Given the description of an element on the screen output the (x, y) to click on. 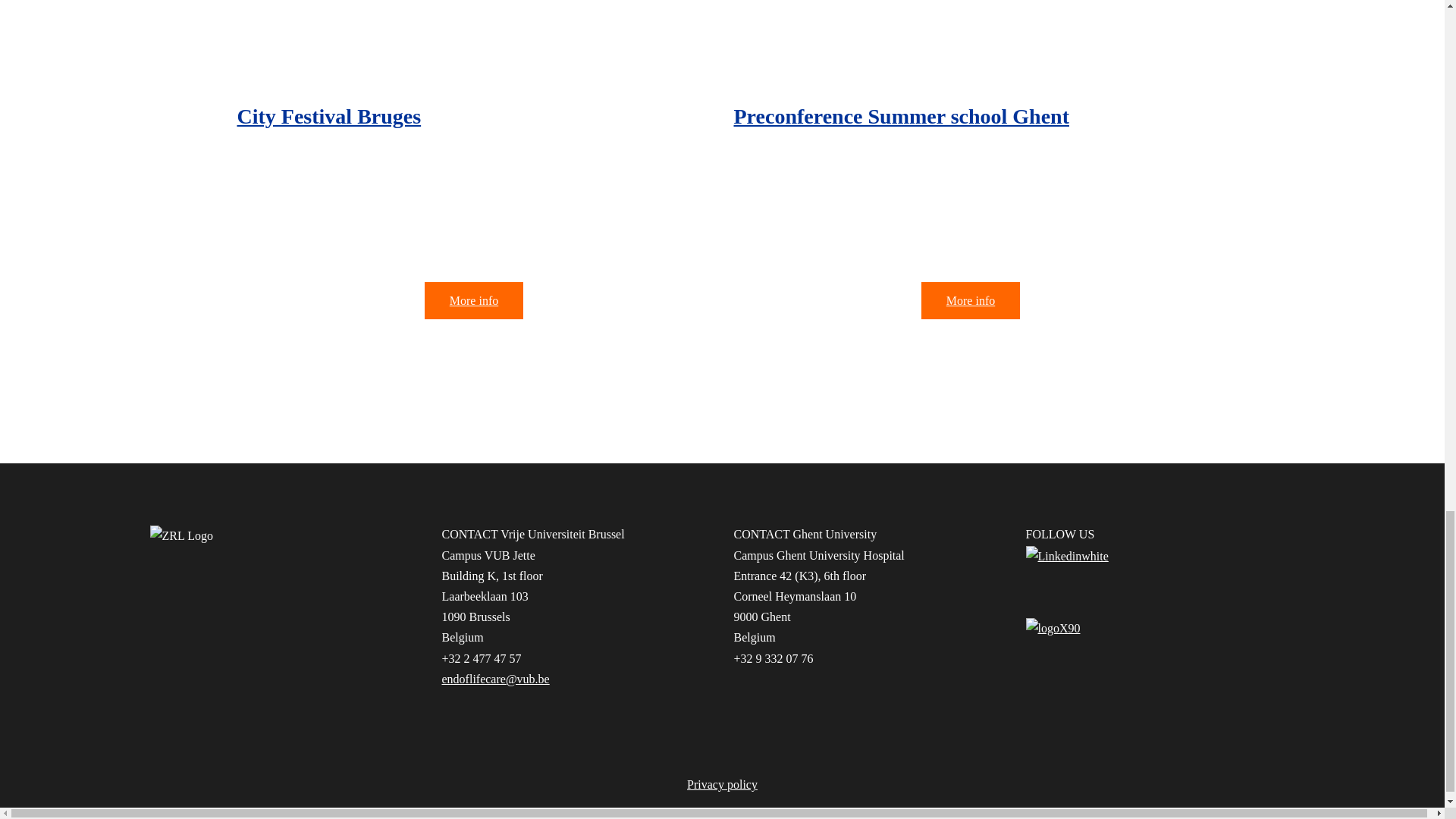
More info (970, 299)
Preconference Summer school Ghent (900, 116)
More info (473, 299)
City Festival Bruges (327, 116)
